Given the description of an element on the screen output the (x, y) to click on. 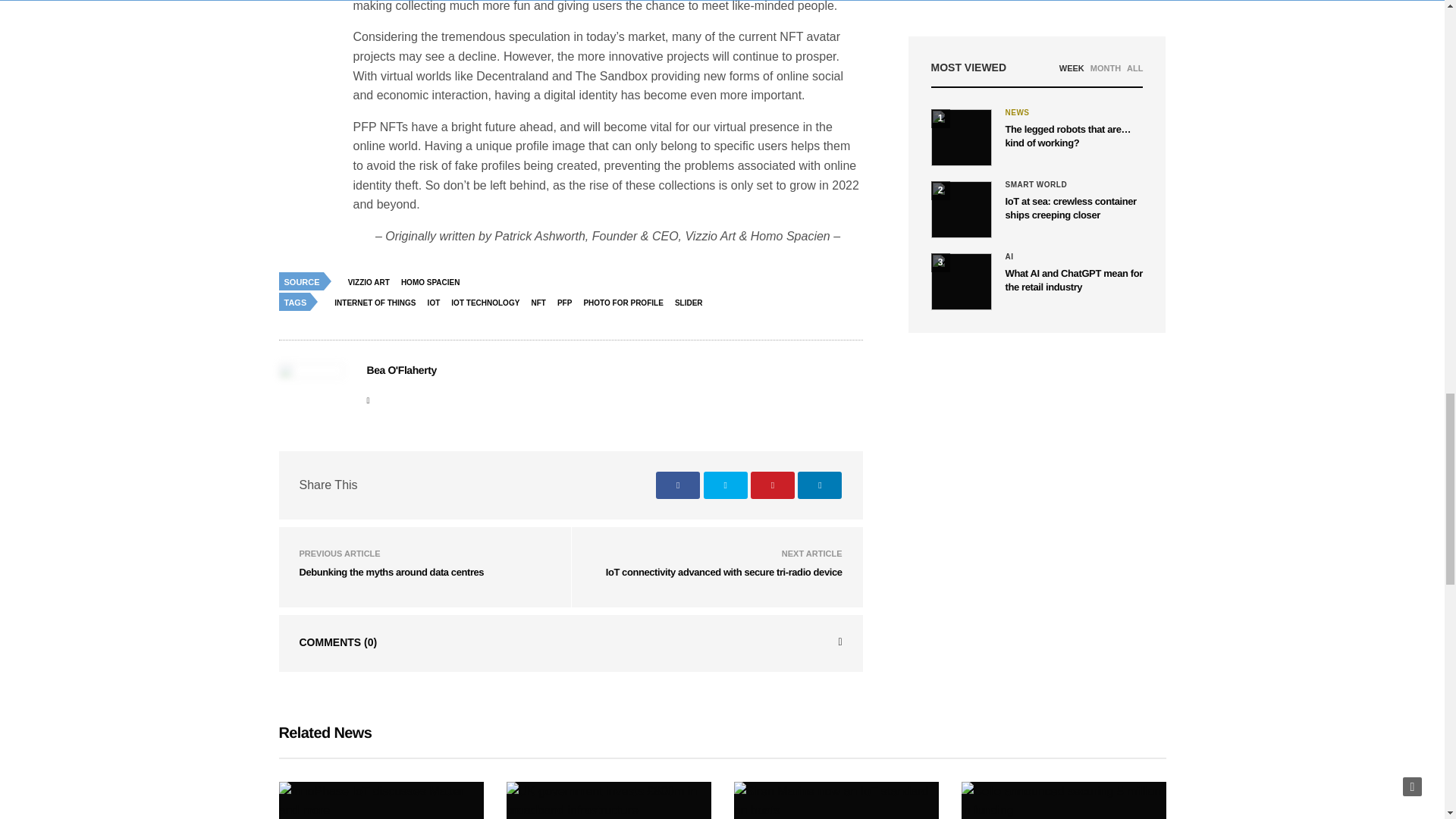
IoT connectivity advanced with secure tri-radio device (724, 572)
Vizzio Art (372, 281)
Homo Spacien (434, 281)
Debunking the myths around data centres (390, 572)
